Given the description of an element on the screen output the (x, y) to click on. 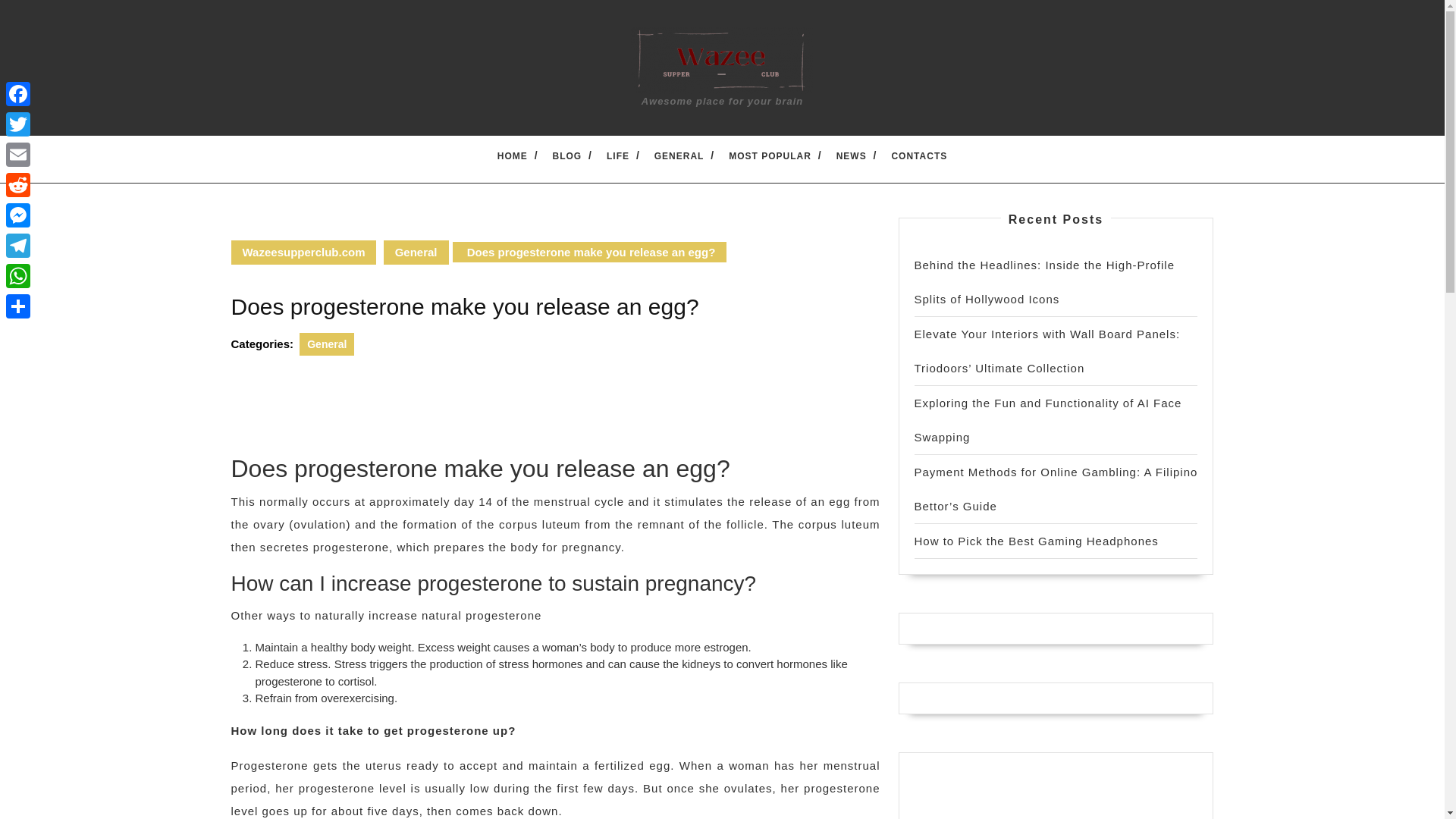
Reddit (17, 184)
General (326, 343)
Twitter (17, 123)
CONTACTS (918, 155)
BLOG (567, 155)
Facebook (17, 93)
Telegram (17, 245)
WhatsApp (17, 276)
Exploring the Fun and Functionality of AI Face Swapping (1048, 419)
MOST POPULAR (770, 155)
WhatsApp (17, 276)
General (416, 251)
Reddit (17, 184)
HOME (512, 155)
